Given the description of an element on the screen output the (x, y) to click on. 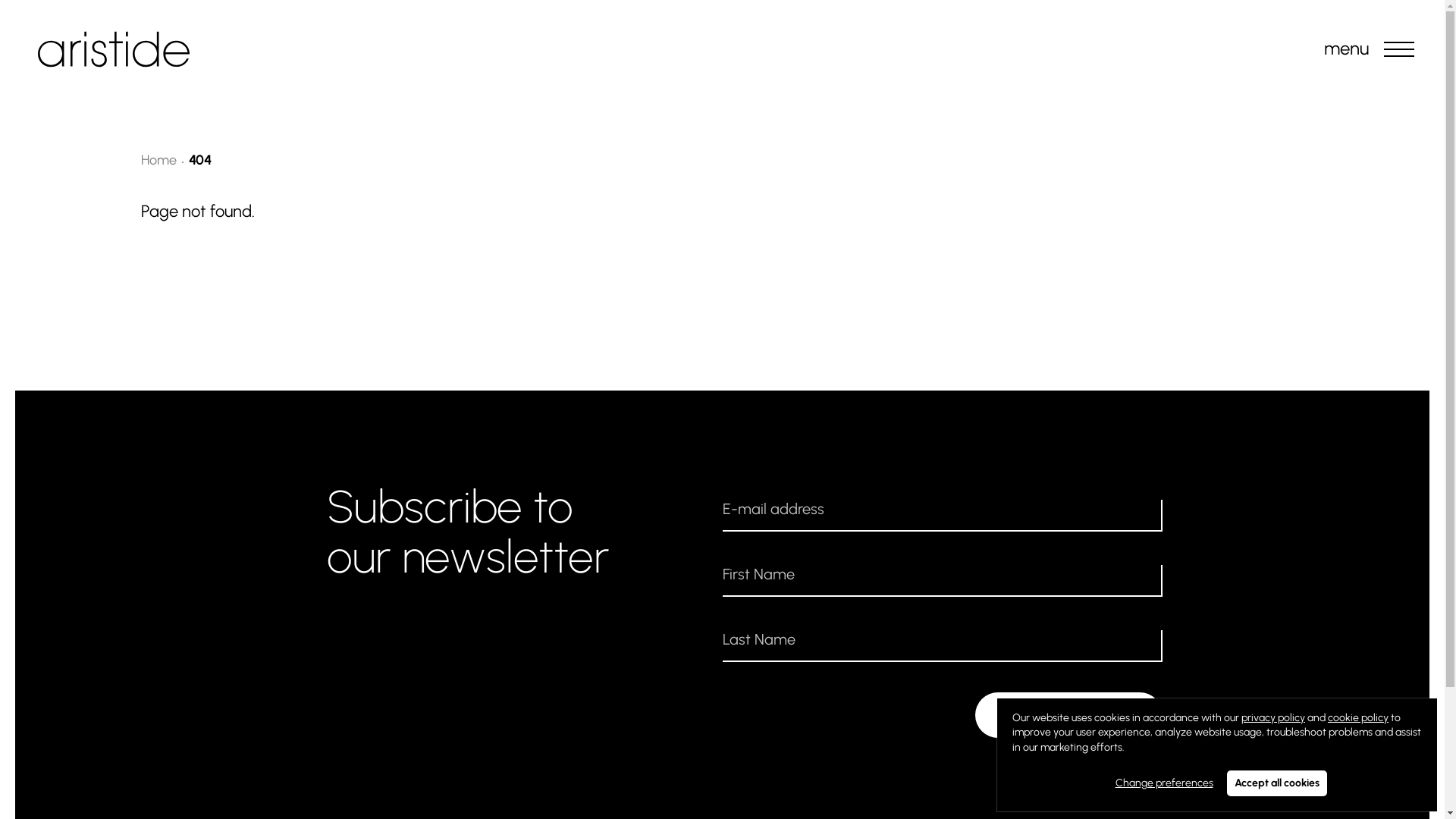
Home Element type: text (158, 159)
Accept all cookies Element type: text (1276, 783)
privacy policy Element type: text (1273, 717)
Subscribe Element type: text (1068, 714)
menu Element type: text (1398, 49)
cookie policy Element type: text (1357, 717)
